Given the description of an element on the screen output the (x, y) to click on. 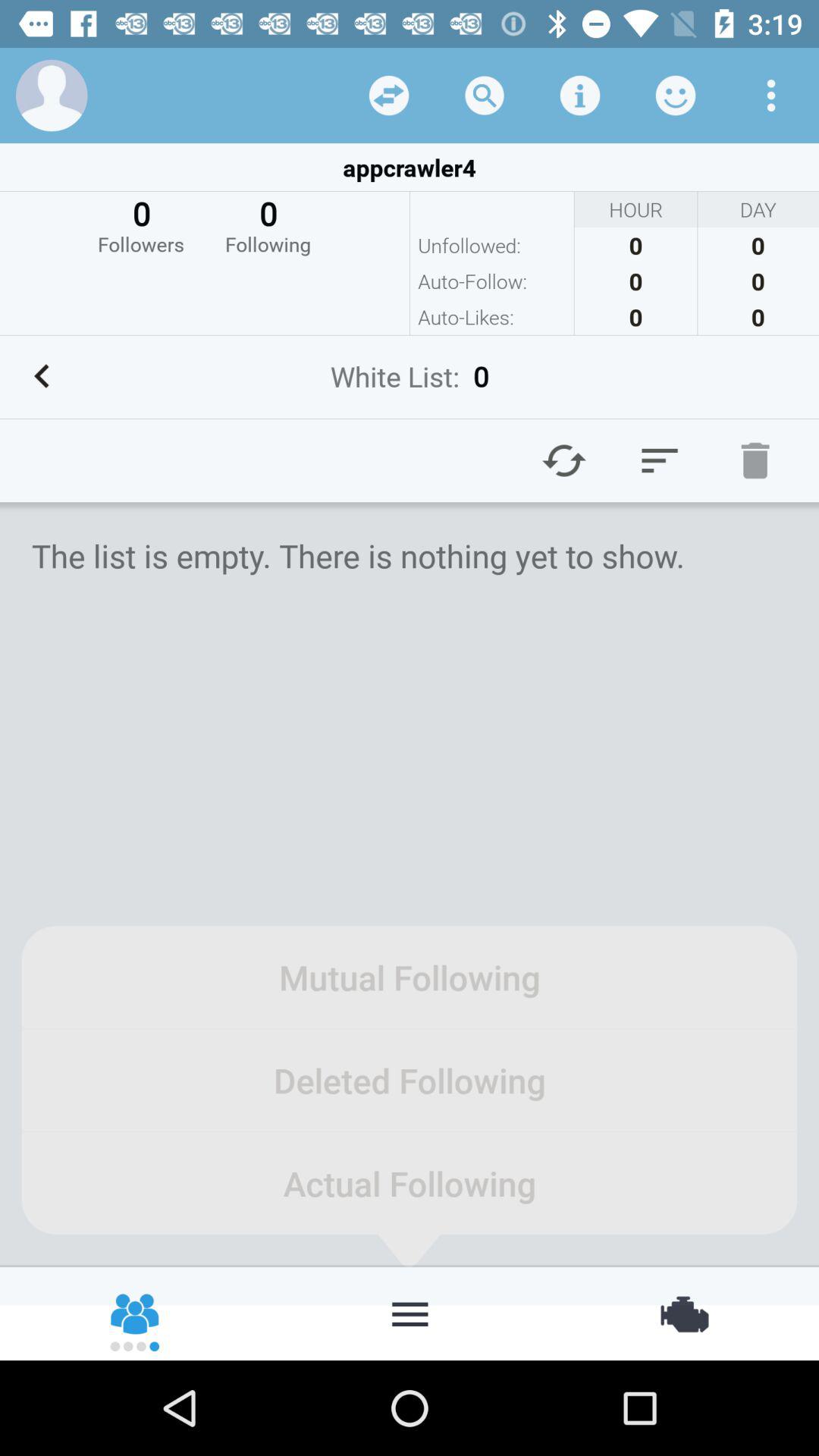
go to customize (409, 1312)
